Given the description of an element on the screen output the (x, y) to click on. 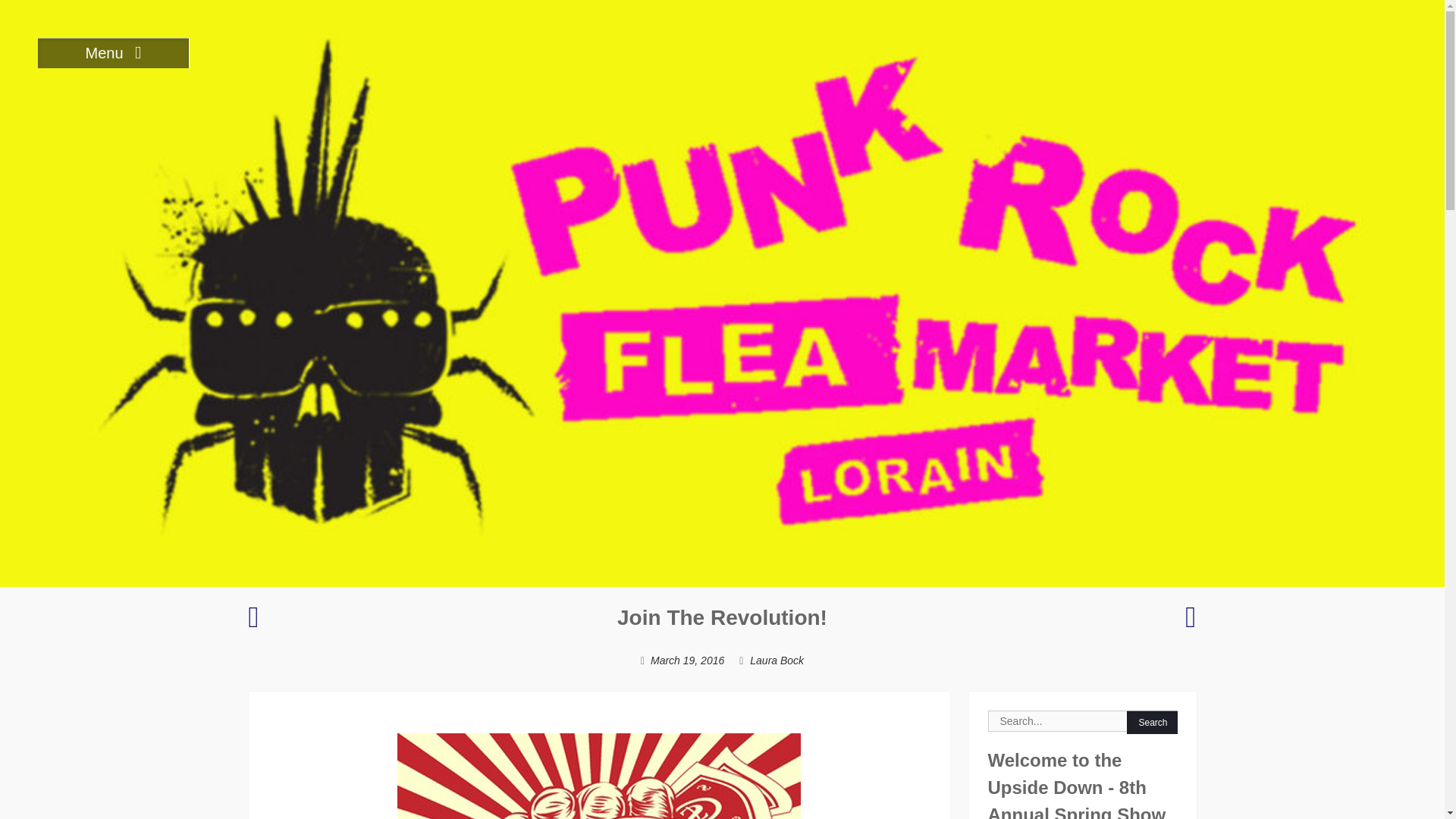
Laura Bock (776, 660)
Search (1151, 721)
March 19, 2016 (686, 660)
Search for: (1081, 721)
Search (1151, 721)
Menu (113, 52)
